Given the description of an element on the screen output the (x, y) to click on. 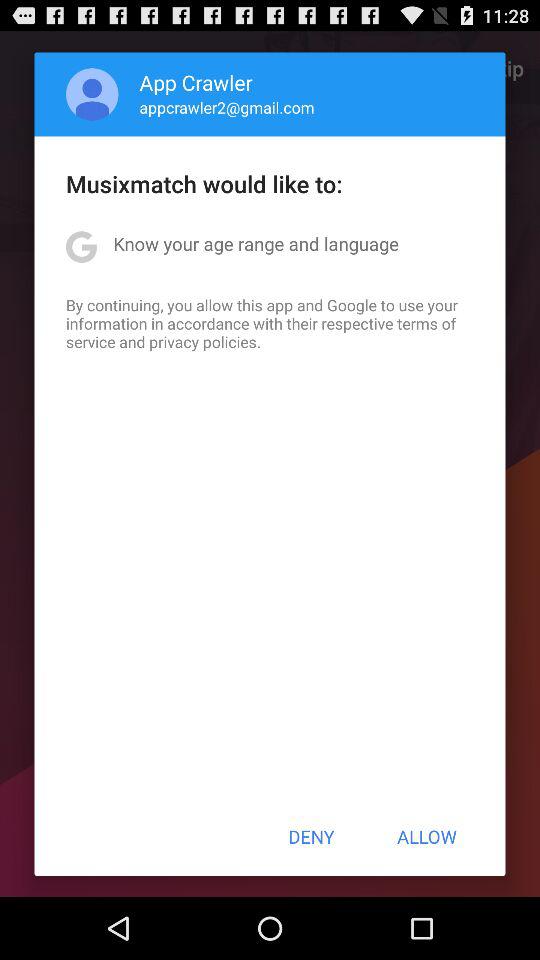
turn on the item to the left of allow item (311, 836)
